Given the description of an element on the screen output the (x, y) to click on. 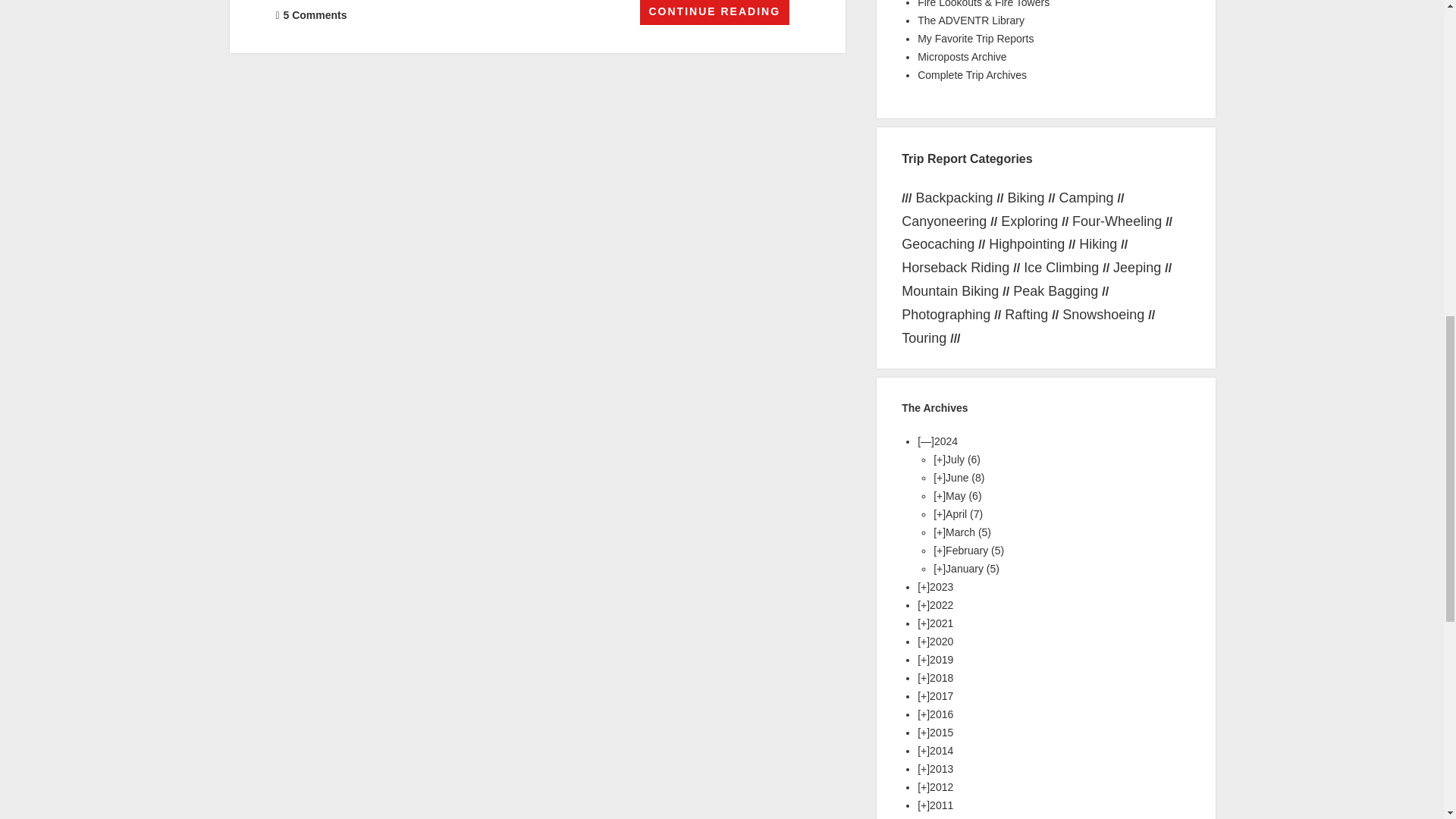
click to collapse (925, 440)
click to expand (938, 459)
